Given the description of an element on the screen output the (x, y) to click on. 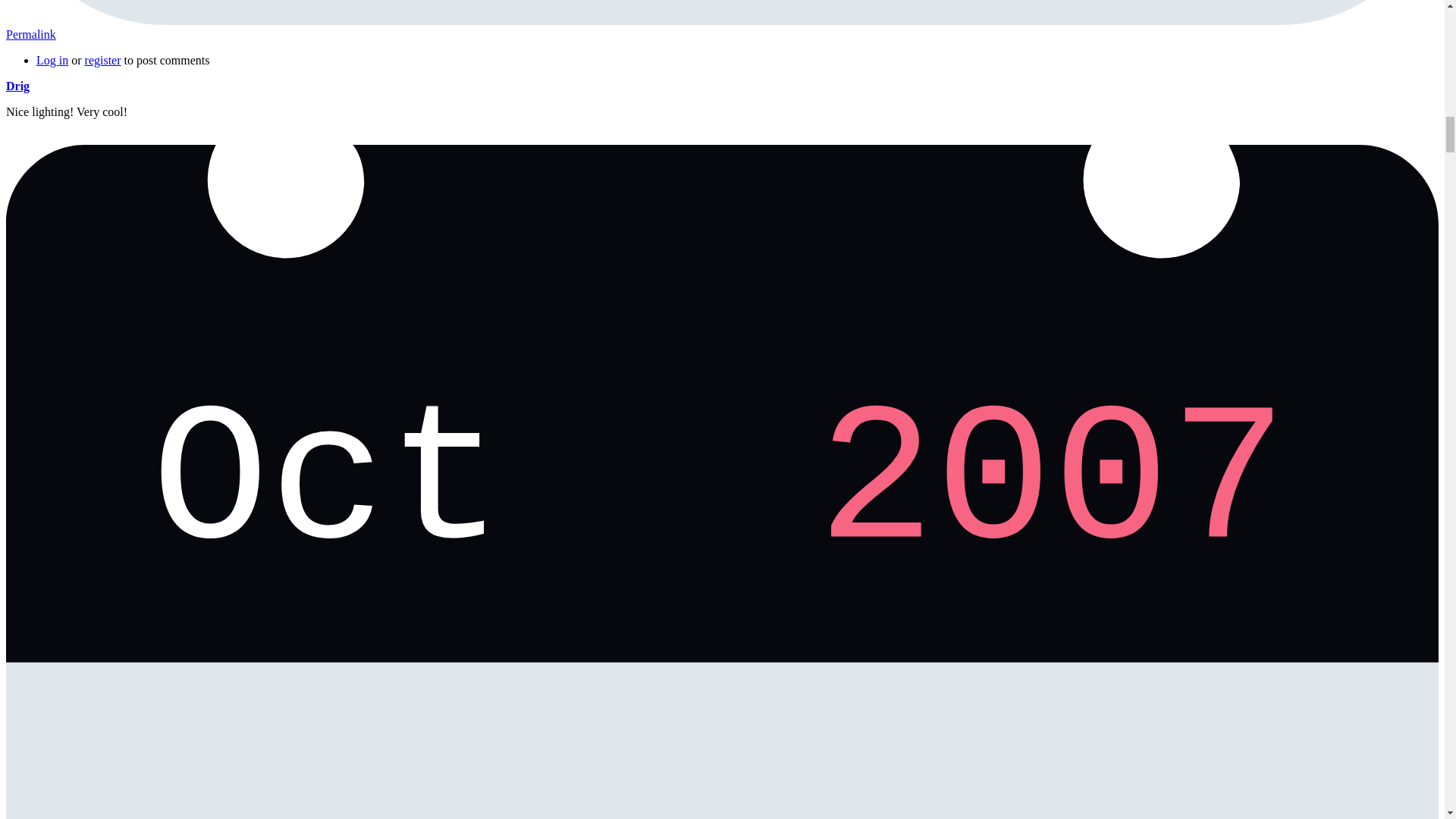
Log in (52, 60)
register (102, 60)
Permalink (30, 33)
View user profile. (17, 85)
Drig (17, 85)
